Given the description of an element on the screen output the (x, y) to click on. 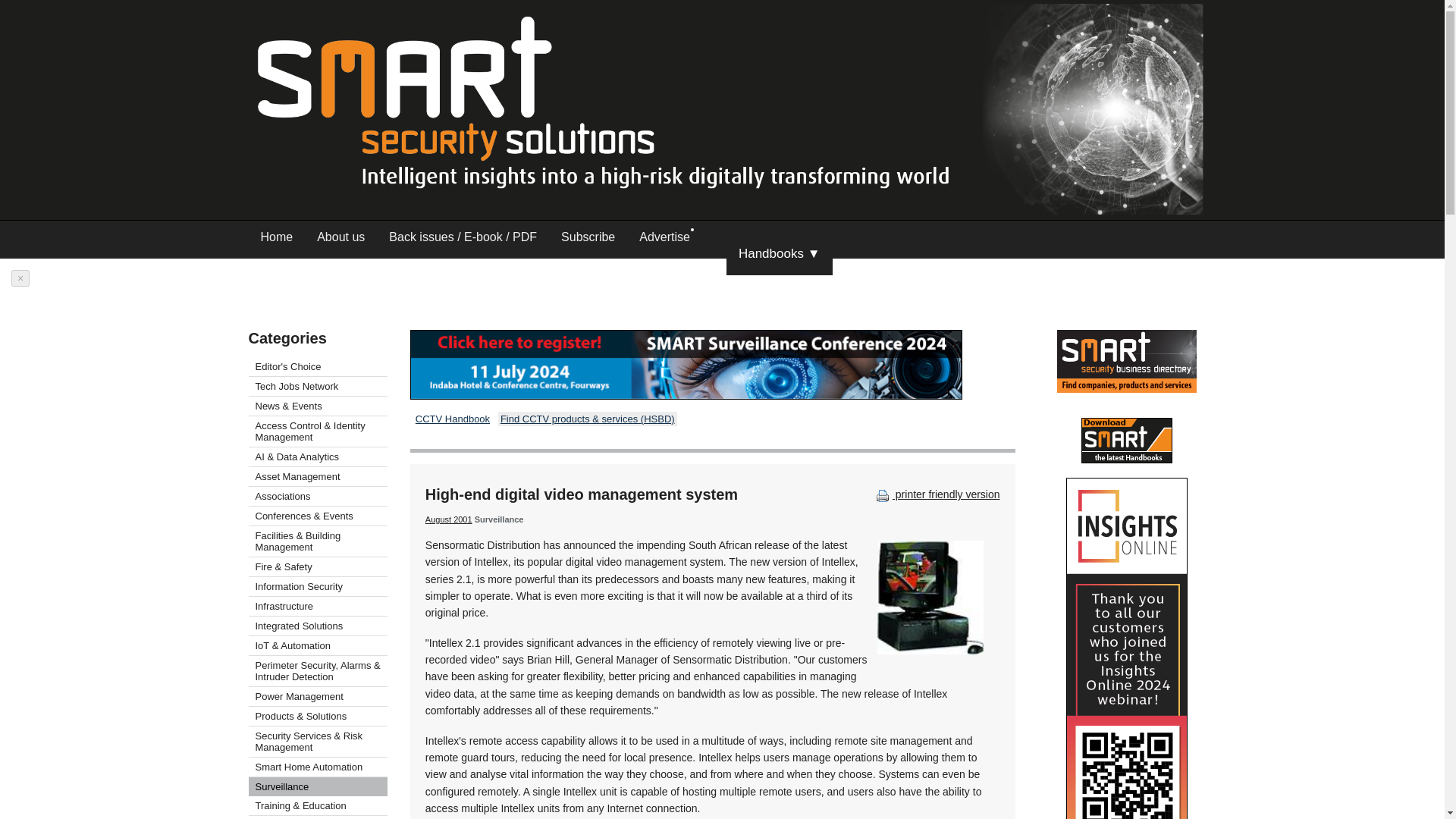
About us (340, 239)
Subscribe (587, 239)
Advertise (664, 239)
Home (276, 239)
